Given the description of an element on the screen output the (x, y) to click on. 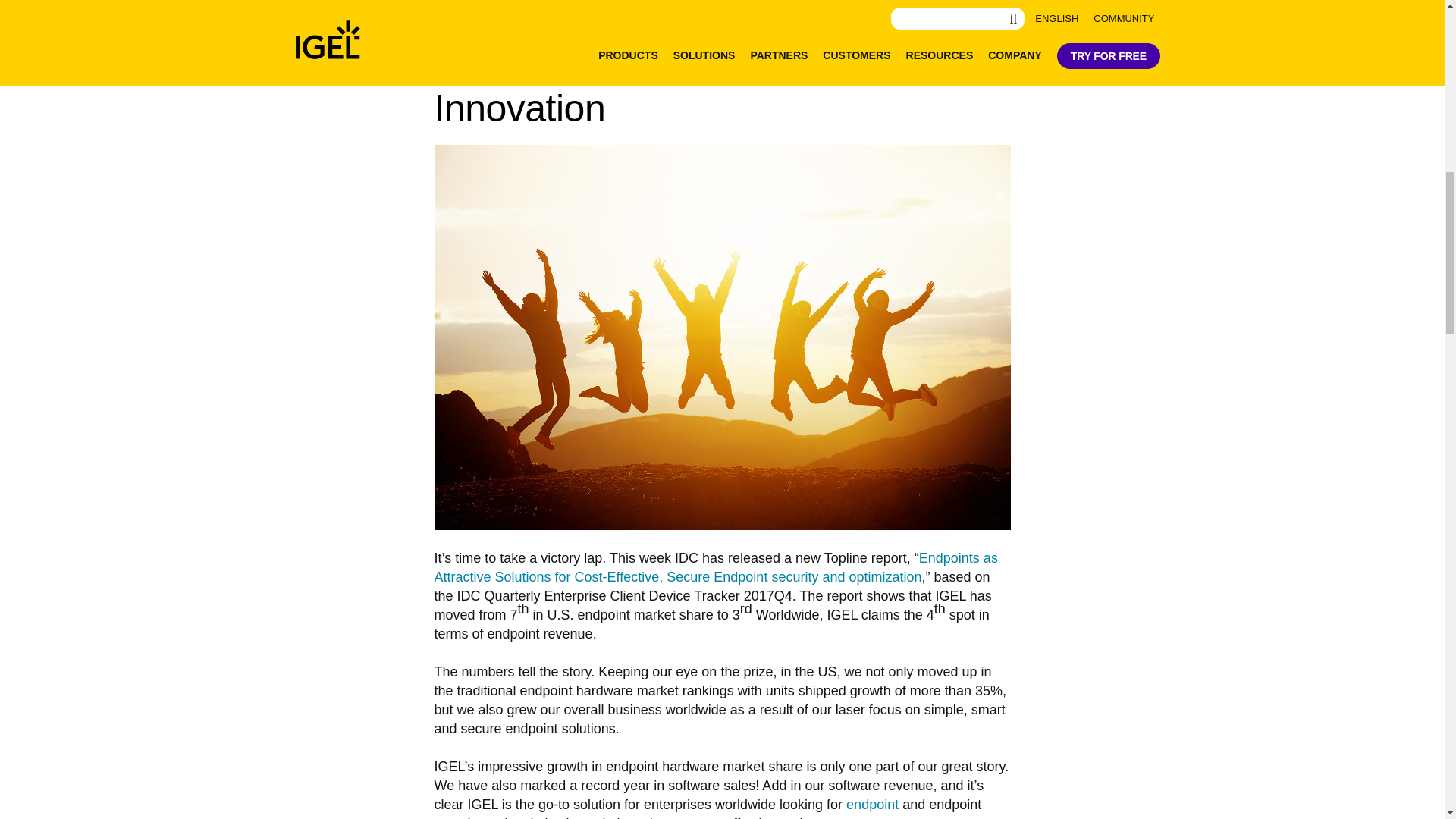
Endpoints (871, 804)
